Given the description of an element on the screen output the (x, y) to click on. 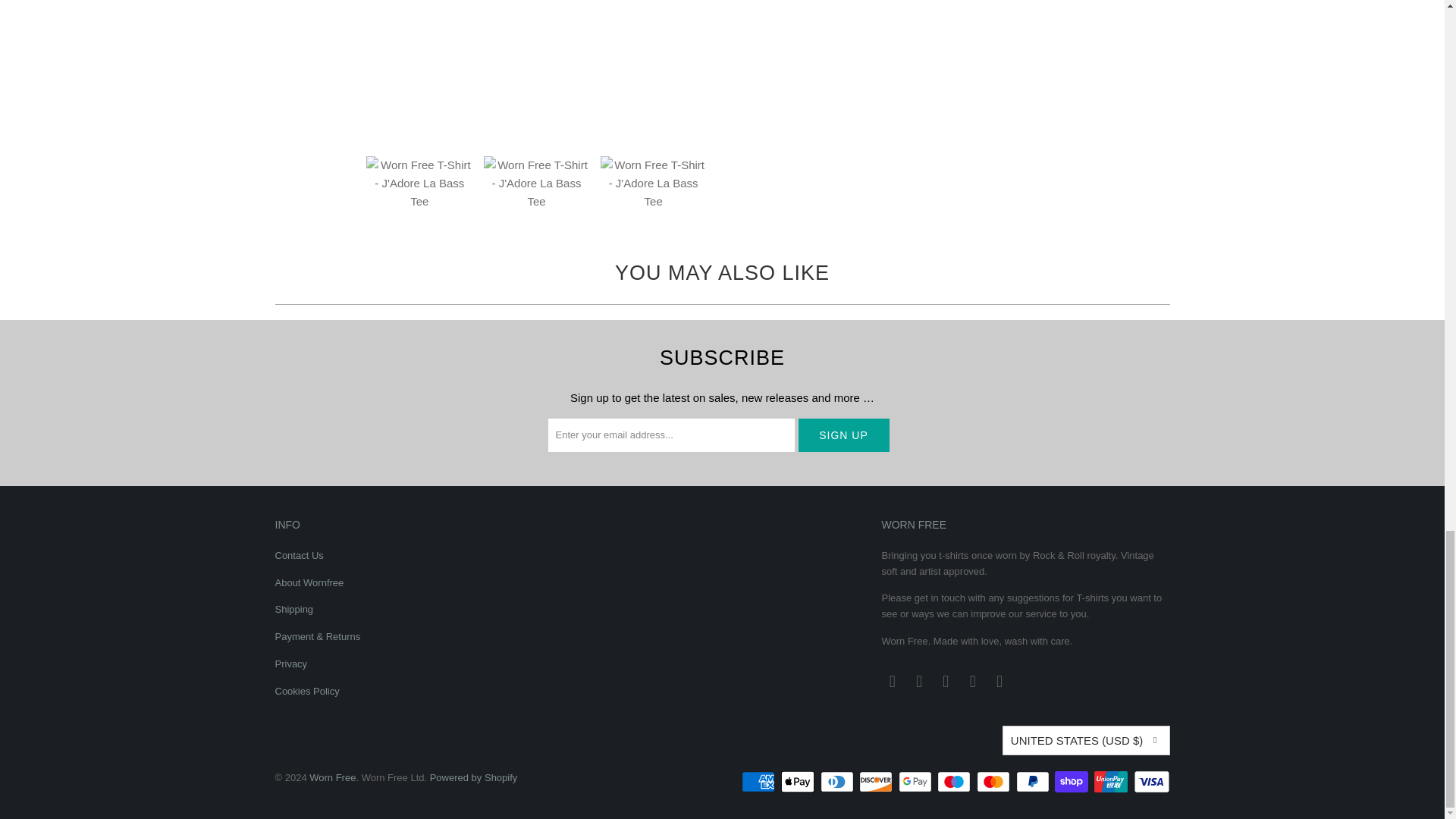
Visa (1150, 781)
Union Pay (1112, 781)
Maestro (955, 781)
Google Pay (916, 781)
Shop Pay (1072, 781)
Worn Free on Facebook (919, 681)
Apple Pay (798, 781)
Discover (877, 781)
Sign Up (842, 435)
Email Worn Free (892, 681)
